Given the description of an element on the screen output the (x, y) to click on. 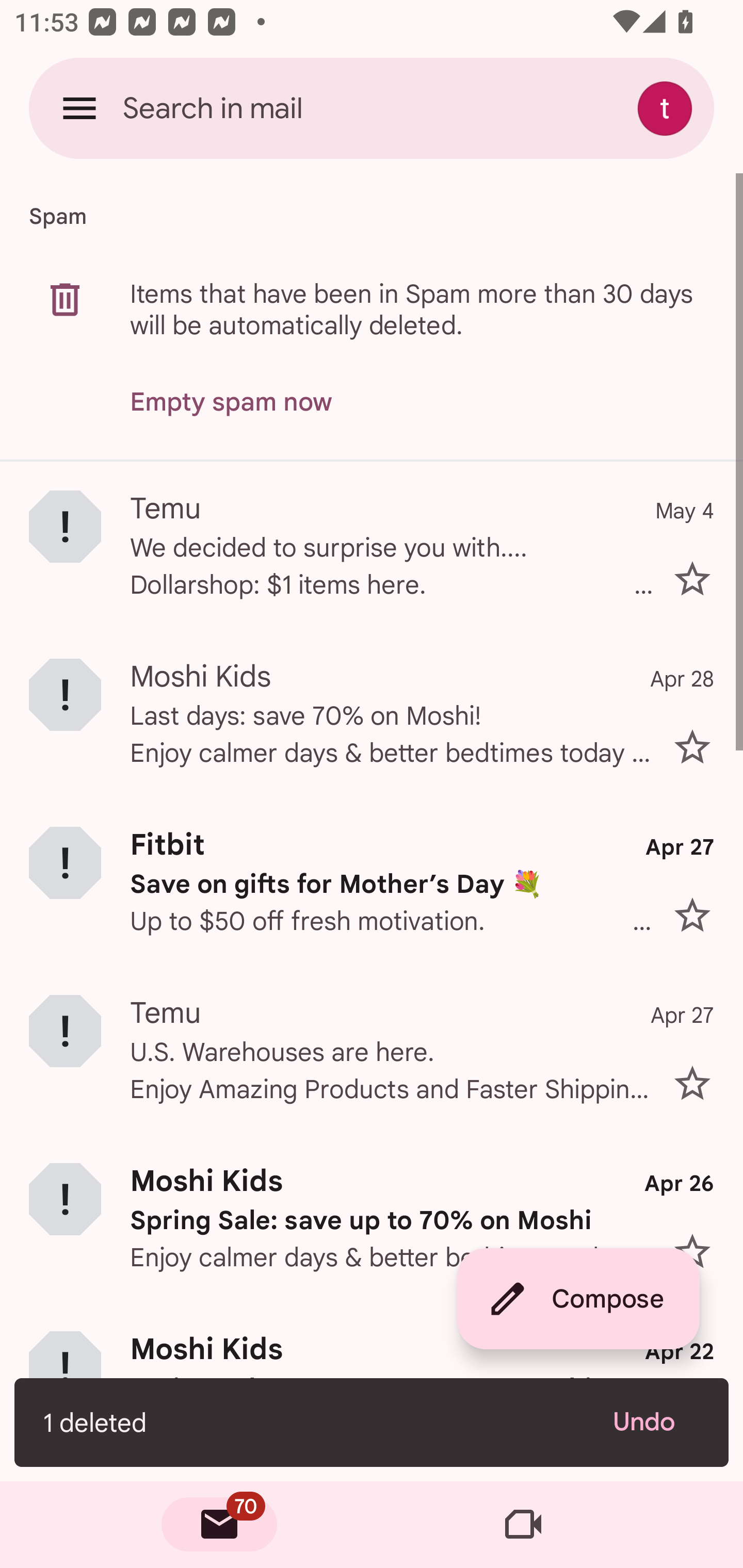
Open navigation drawer (79, 108)
Empty spam now (230, 402)
Compose (577, 1299)
Undo (655, 1422)
Meet (523, 1524)
